Given the description of an element on the screen output the (x, y) to click on. 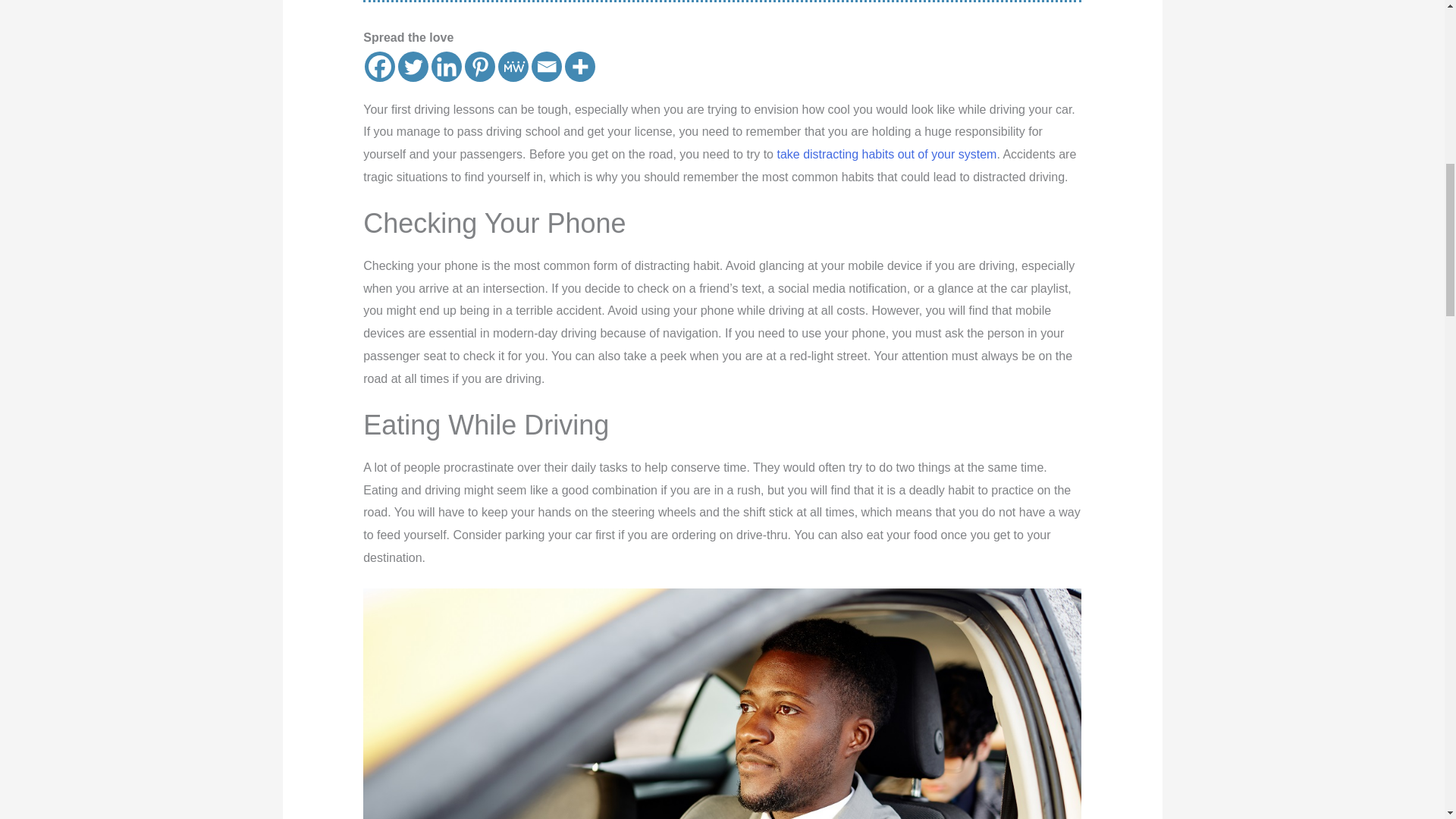
Twitter (412, 66)
Roads and Maritime Services (885, 154)
take distracting habits out of your system (885, 154)
Pinterest (479, 66)
Email (546, 66)
Linkedin (445, 66)
MeWe (512, 66)
Facebook (379, 66)
More (579, 66)
